Given the description of an element on the screen output the (x, y) to click on. 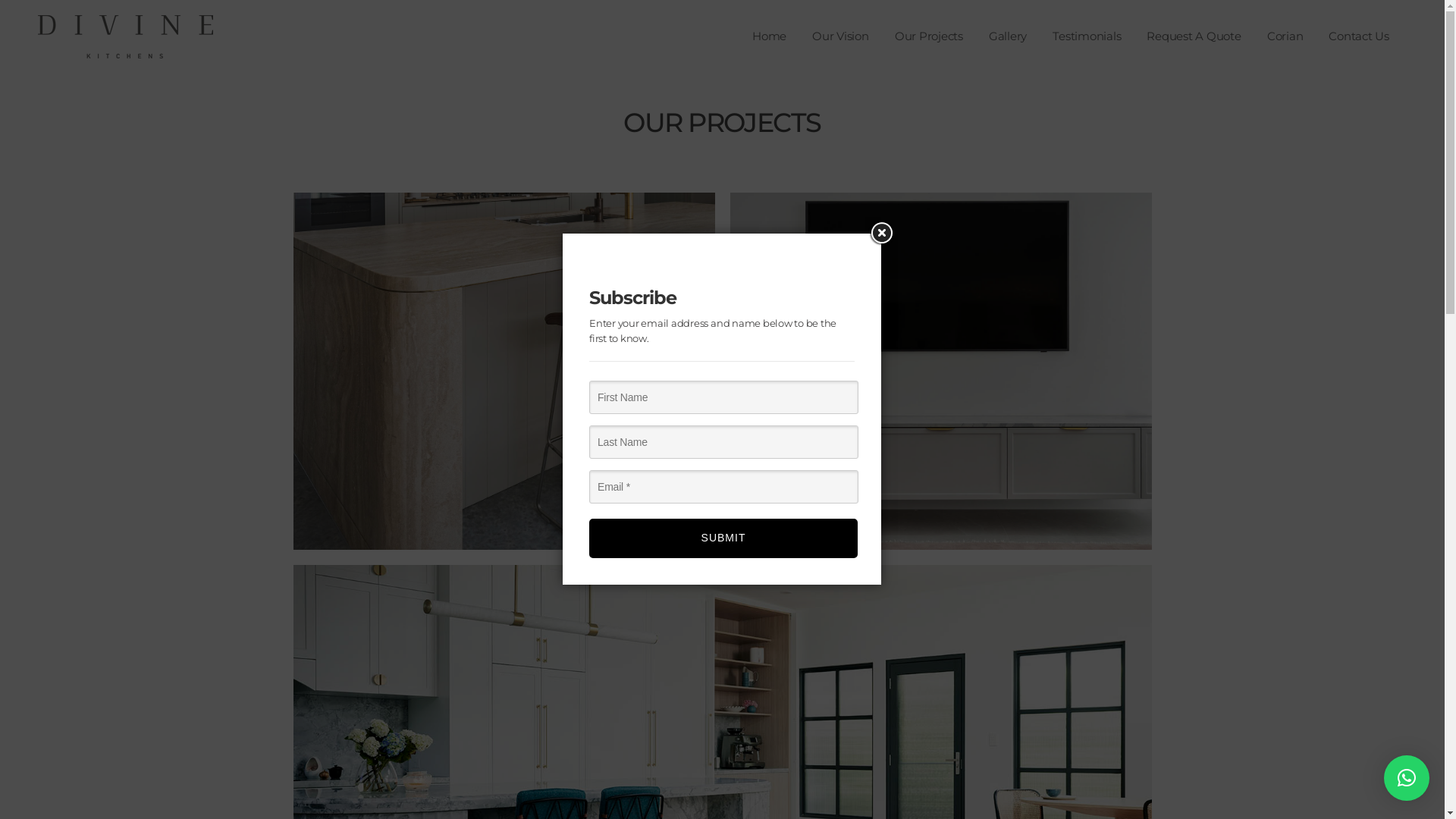
Our Vision Element type: text (840, 35)
Gallery Element type: text (1007, 35)
Home Element type: text (769, 35)
Request A Quote Element type: text (1193, 35)
Contact Us Element type: text (1358, 35)
Submit Element type: text (723, 538)
Testimonials Element type: text (1086, 35)
Our Projects Element type: text (928, 35)
Corian Element type: text (1285, 35)
